Given the description of an element on the screen output the (x, y) to click on. 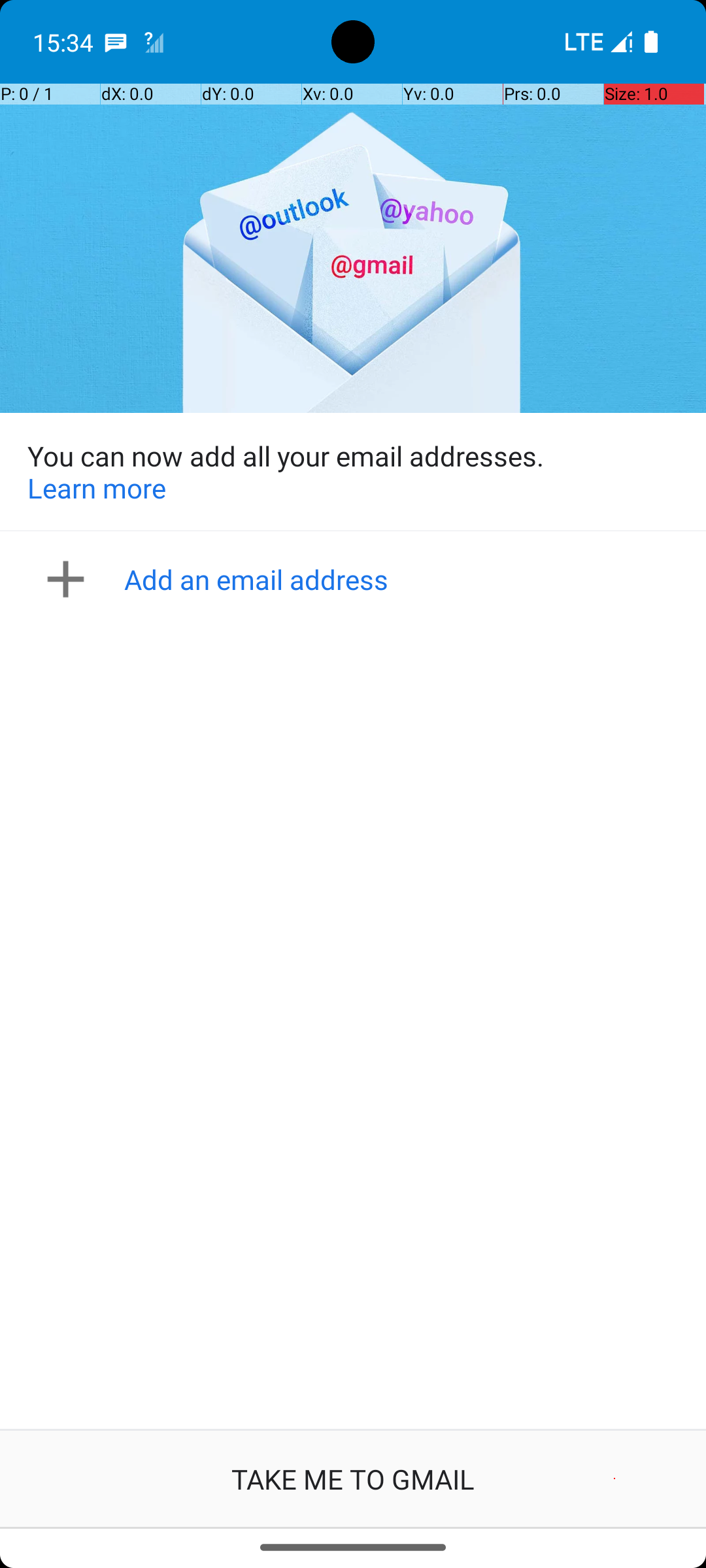
You can now add all your email addresses. Learn more Element type: android.widget.TextView (352, 471)
TAKE ME TO GMAIL Element type: android.widget.TextView (353, 1478)
Add an email address Element type: android.widget.TextView (356, 579)
Android System notification: Sign in to network Element type: android.widget.ImageView (153, 41)
